Given the description of an element on the screen output the (x, y) to click on. 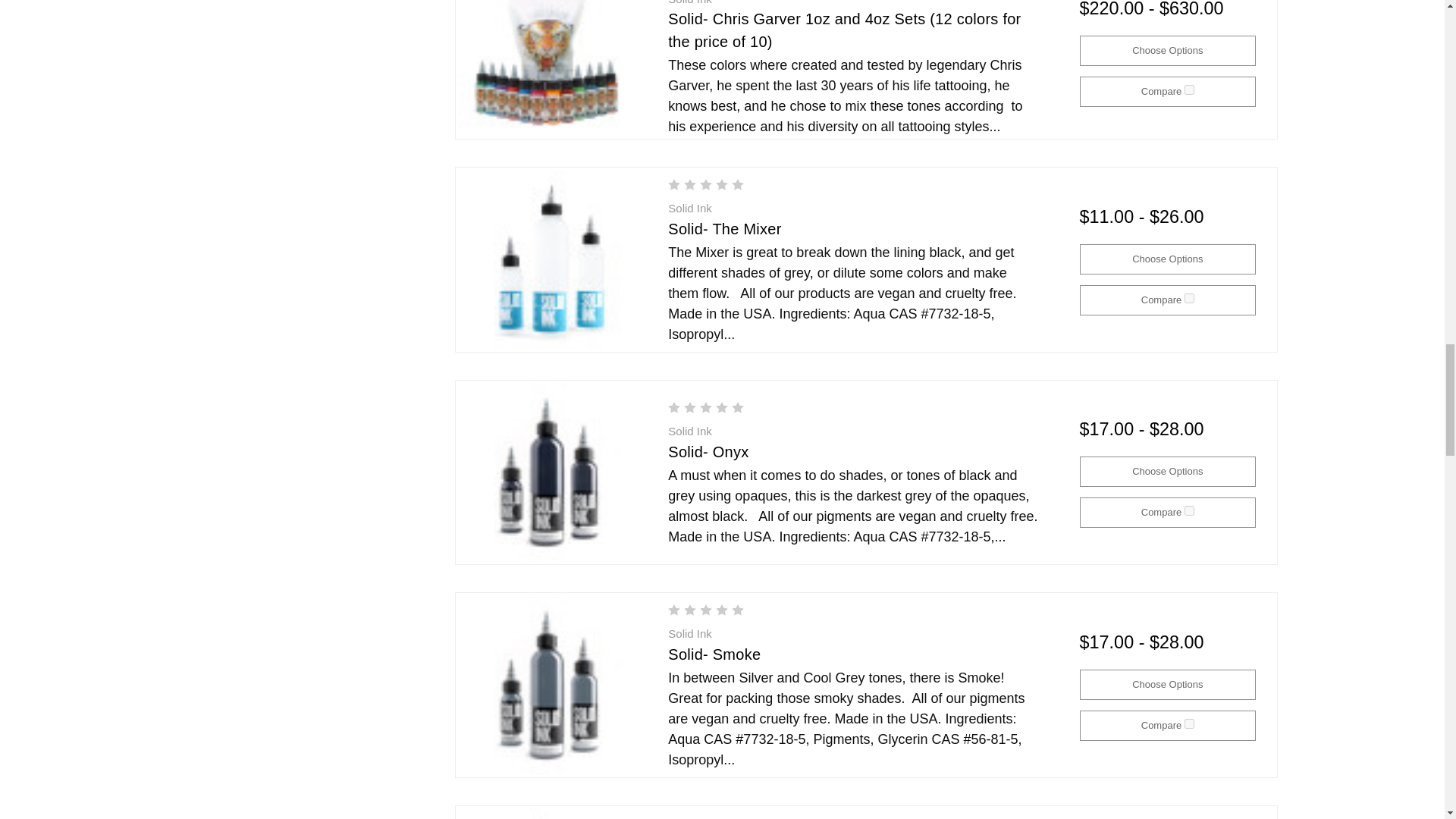
3161 (1189, 298)
3160 (1189, 510)
3289 (1189, 90)
3159 (1189, 723)
